Given the description of an element on the screen output the (x, y) to click on. 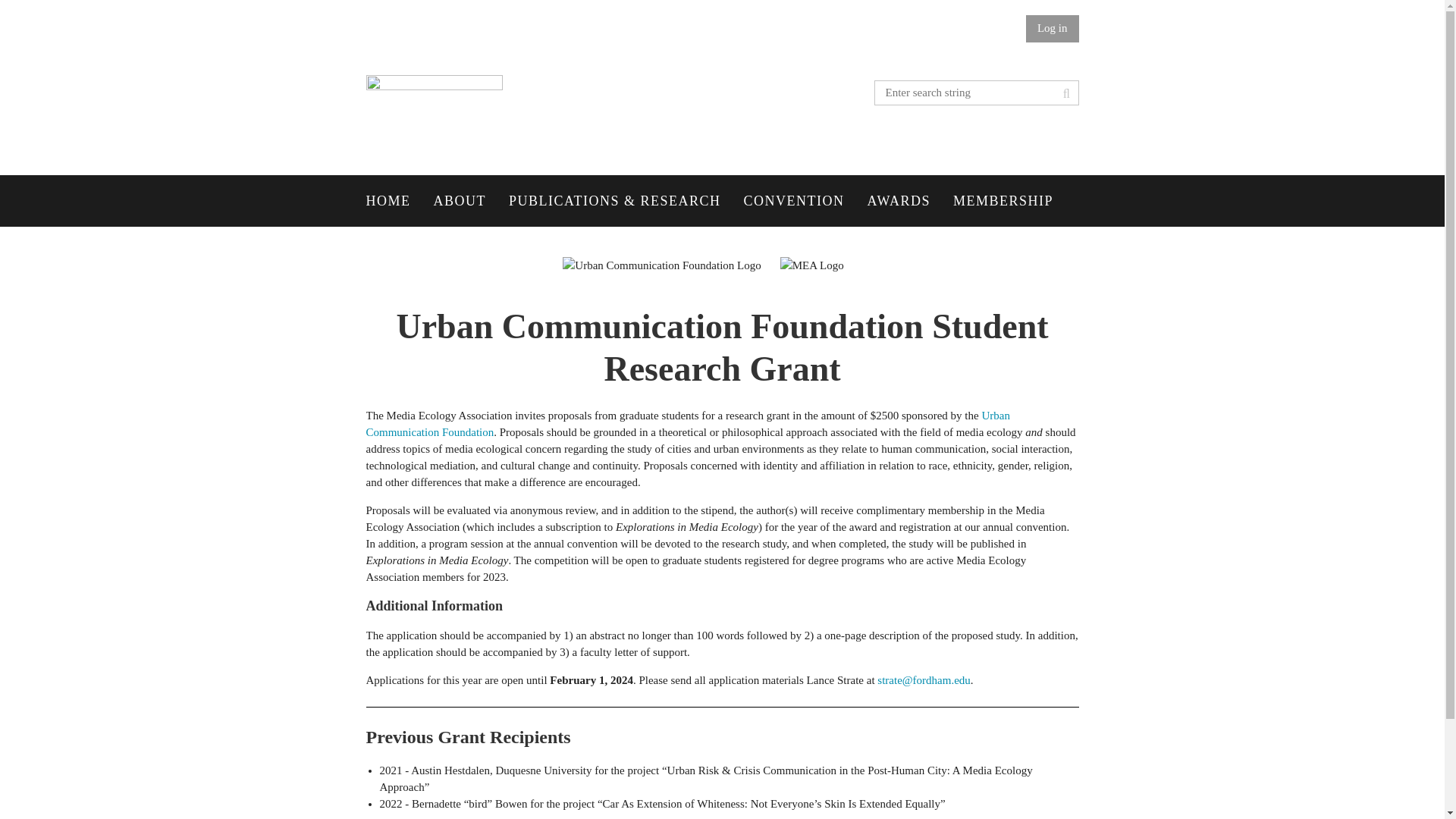
Log in (1052, 28)
ABOUT (471, 200)
CONVENTION (805, 200)
HOME (398, 200)
Urban Communication Foundation (687, 423)
Home (398, 200)
AWARDS (910, 200)
About (471, 200)
MEMBERSHIP (1014, 200)
